Given the description of an element on the screen output the (x, y) to click on. 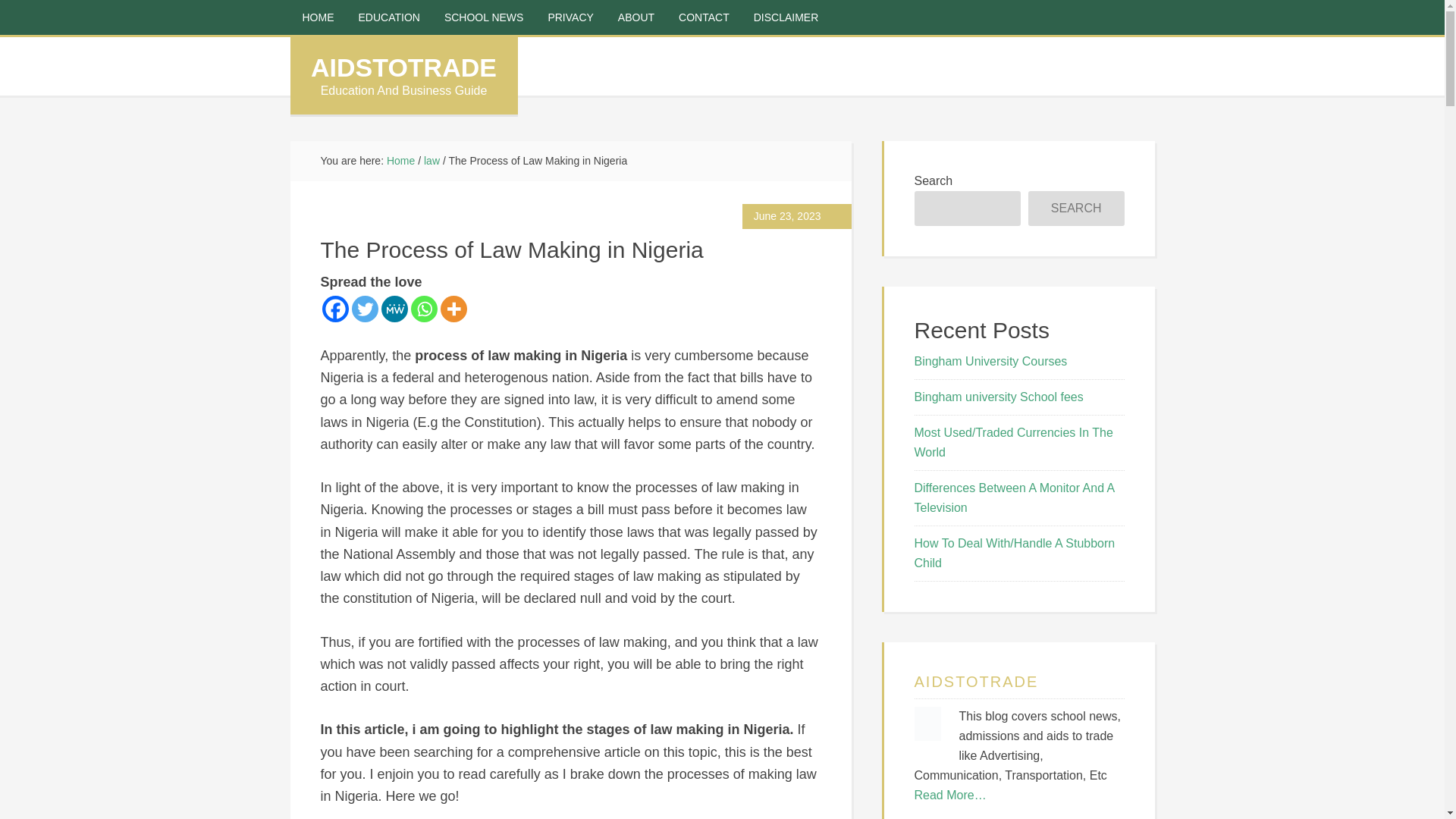
Facebook (334, 308)
SEARCH (1075, 208)
Bingham University Courses (990, 360)
MeWe (393, 308)
DISCLAIMER (786, 17)
Twitter (365, 308)
Home (400, 160)
PRIVACY (570, 17)
More (452, 308)
Differences Between A Monitor And A Television (1014, 497)
